Given the description of an element on the screen output the (x, y) to click on. 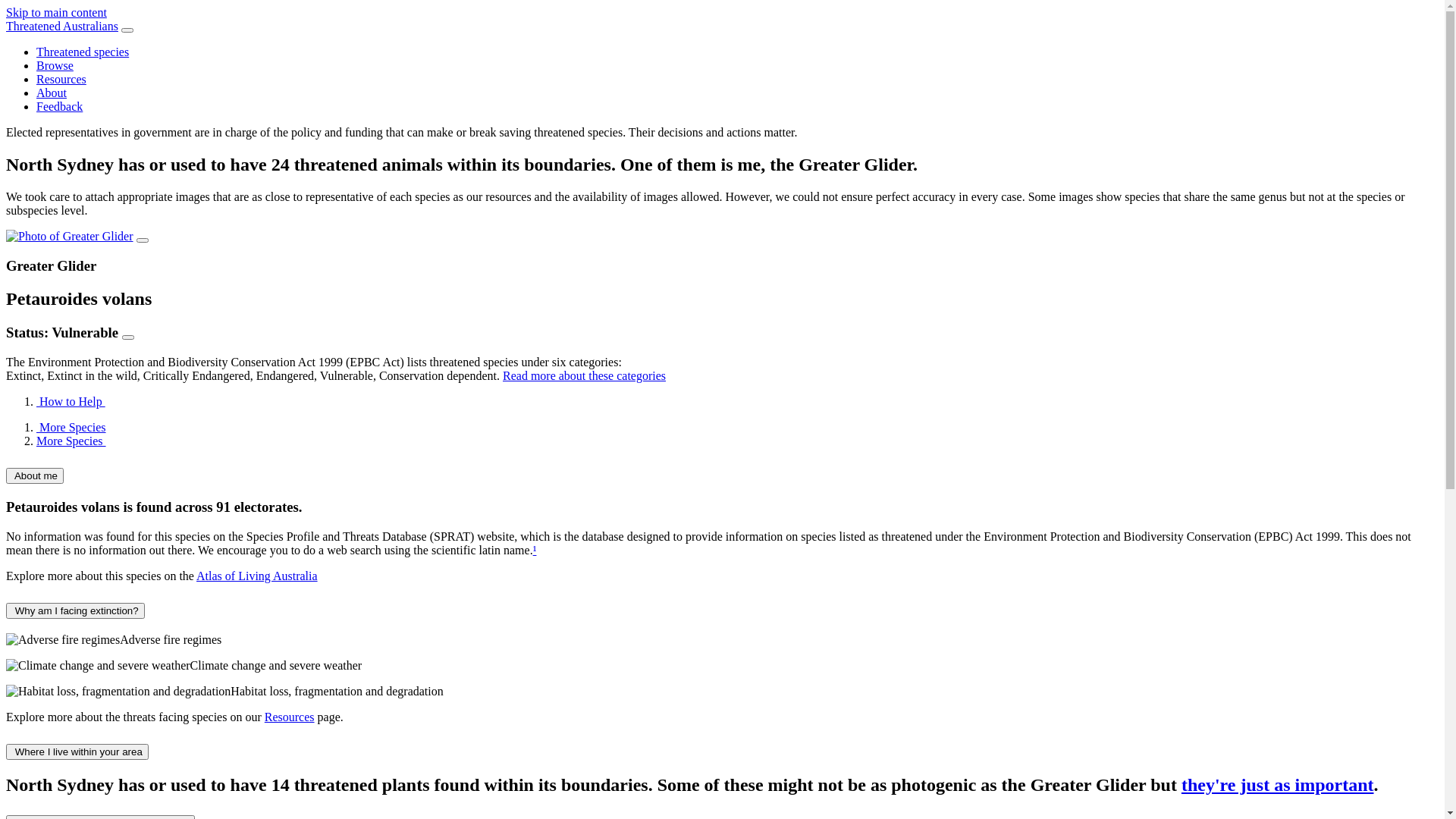
 Why am I facing extinction? Element type: text (75, 610)
they're just as important Element type: text (1277, 784)
 How to Help  Element type: text (70, 401)
Resources Element type: text (61, 78)
Resources Element type: text (289, 716)
 More Species Element type: text (71, 426)
Browse Element type: text (54, 65)
 Where I live within your area Element type: text (77, 751)
More Species  Element type: text (71, 440)
Threatened Australians Element type: text (62, 25)
Read more about these categories Element type: text (583, 375)
Feedback Element type: text (59, 106)
Skip to main content Element type: text (56, 12)
Threatened species Element type: text (82, 51)
Atlas of Living Australia Element type: text (256, 575)
About Element type: text (51, 92)
 About me Element type: text (34, 475)
